Given the description of an element on the screen output the (x, y) to click on. 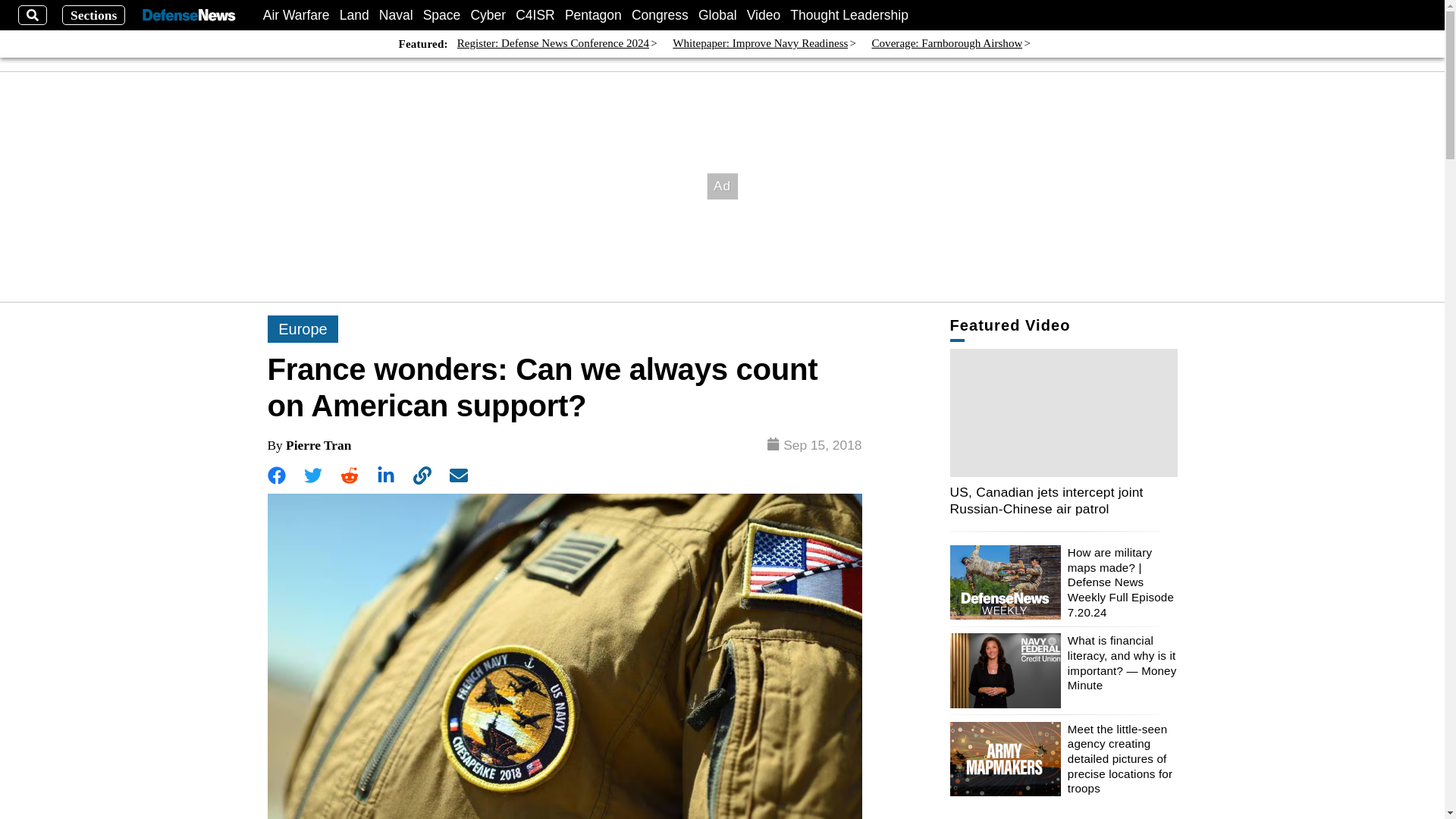
Air Warfare (296, 14)
Sections (93, 14)
Pentagon (592, 14)
Global (717, 14)
Defense News Logo (188, 14)
Land (354, 14)
Congress (659, 14)
Space (442, 14)
Thought Leadership (849, 14)
Video (763, 14)
Naval (395, 14)
